Given the description of an element on the screen output the (x, y) to click on. 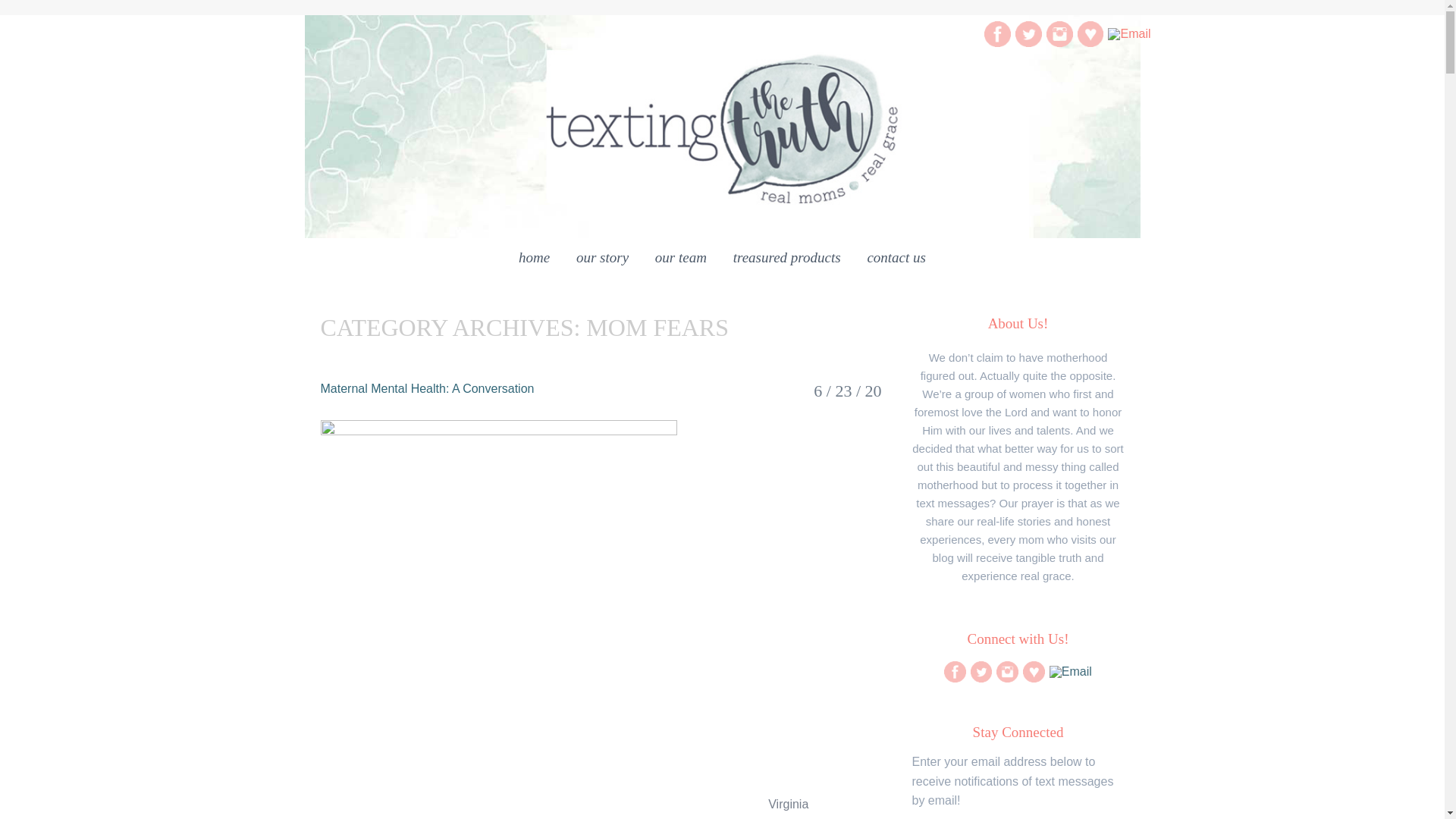
treasured products (786, 260)
our team (680, 260)
contact us (896, 260)
our story (602, 260)
Maternal Mental Health: A Conversation (427, 388)
home (533, 260)
